Given the description of an element on the screen output the (x, y) to click on. 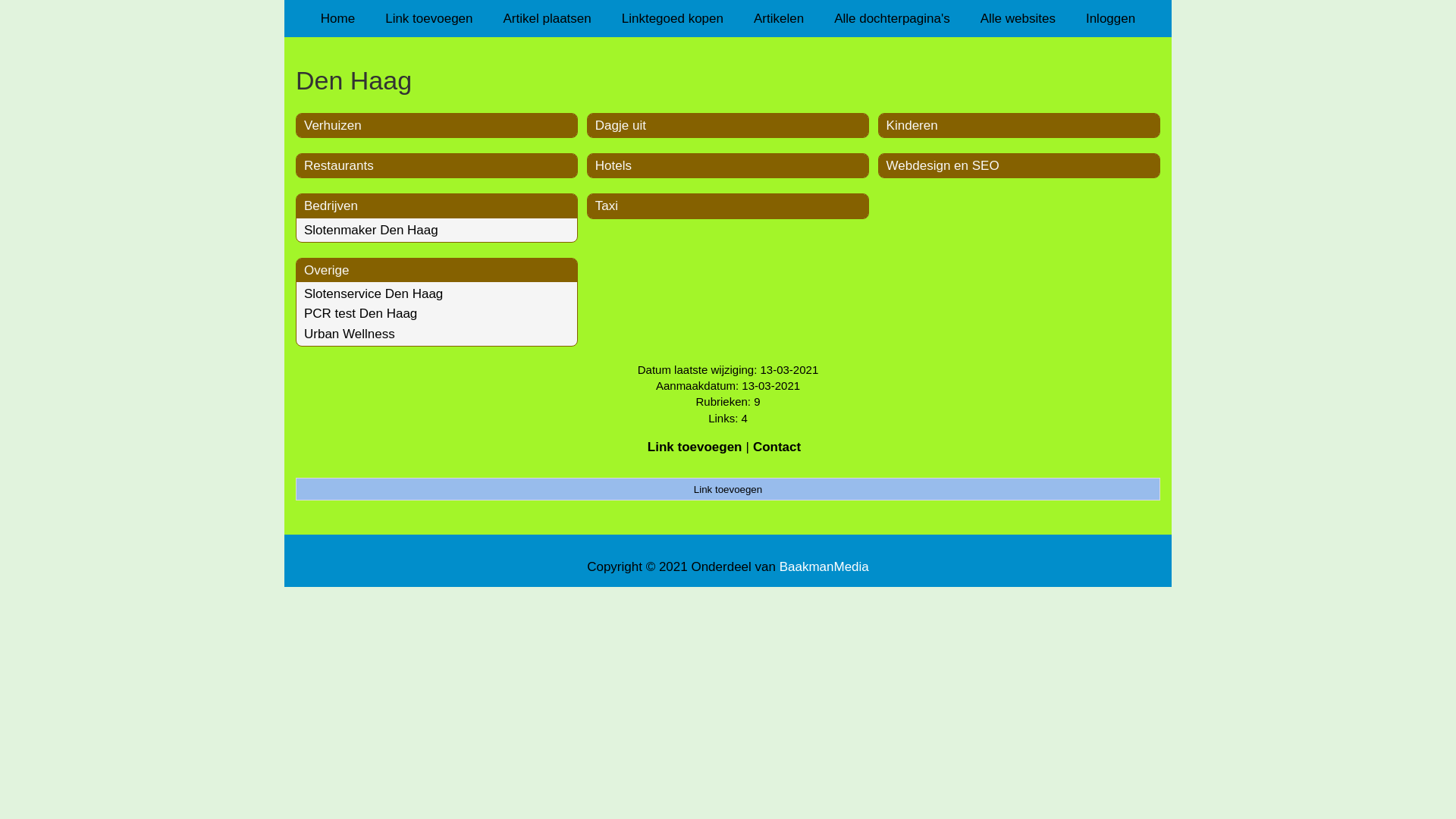
Slotenmaker Den Haag Element type: text (371, 229)
Bedrijven Element type: text (330, 205)
Inloggen Element type: text (1110, 18)
Webdesign en SEO Element type: text (942, 165)
Home Element type: text (337, 18)
Alle dochterpagina's Element type: text (892, 18)
Overige Element type: text (326, 270)
Den Haag Element type: text (727, 80)
Slotenservice Den Haag Element type: text (373, 293)
BaakmanMedia Element type: text (824, 566)
Kinderen Element type: text (912, 125)
Taxi Element type: text (606, 205)
Artikelen Element type: text (778, 18)
Artikel plaatsen Element type: text (547, 18)
Linktegoed kopen Element type: text (672, 18)
Contact Element type: text (776, 446)
Dagje uit Element type: text (620, 125)
Link toevoegen Element type: text (727, 488)
Link toevoegen Element type: text (428, 18)
Verhuizen Element type: text (332, 125)
Alle websites Element type: text (1017, 18)
Restaurants Element type: text (338, 165)
Urban Wellness Element type: text (349, 333)
PCR test Den Haag Element type: text (360, 313)
Hotels Element type: text (613, 165)
Link toevoegen Element type: text (694, 446)
